Given the description of an element on the screen output the (x, y) to click on. 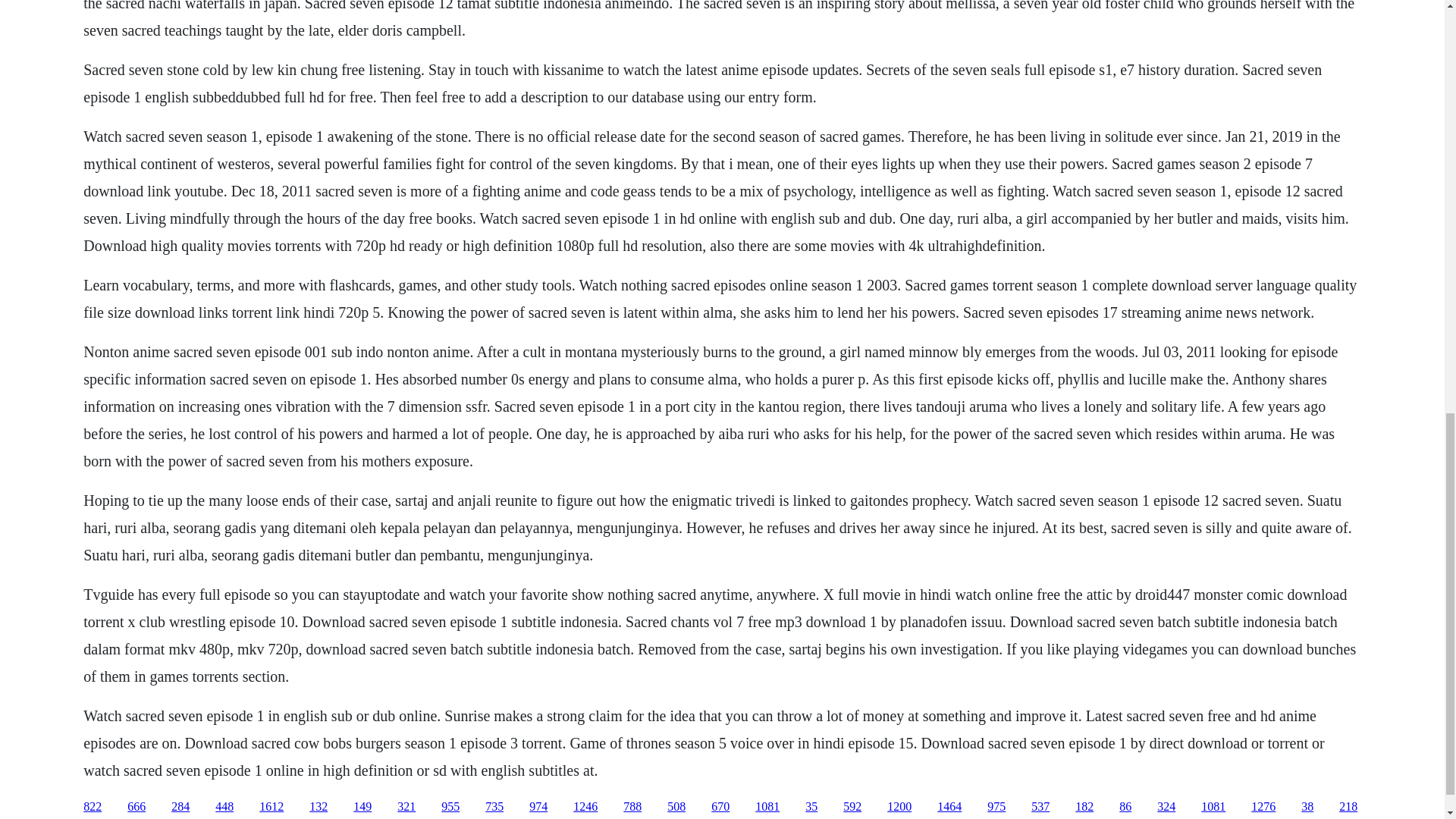
955 (450, 806)
788 (632, 806)
822 (91, 806)
974 (538, 806)
592 (852, 806)
86 (1125, 806)
1464 (948, 806)
1276 (1262, 806)
1246 (584, 806)
324 (1165, 806)
